Given the description of an element on the screen output the (x, y) to click on. 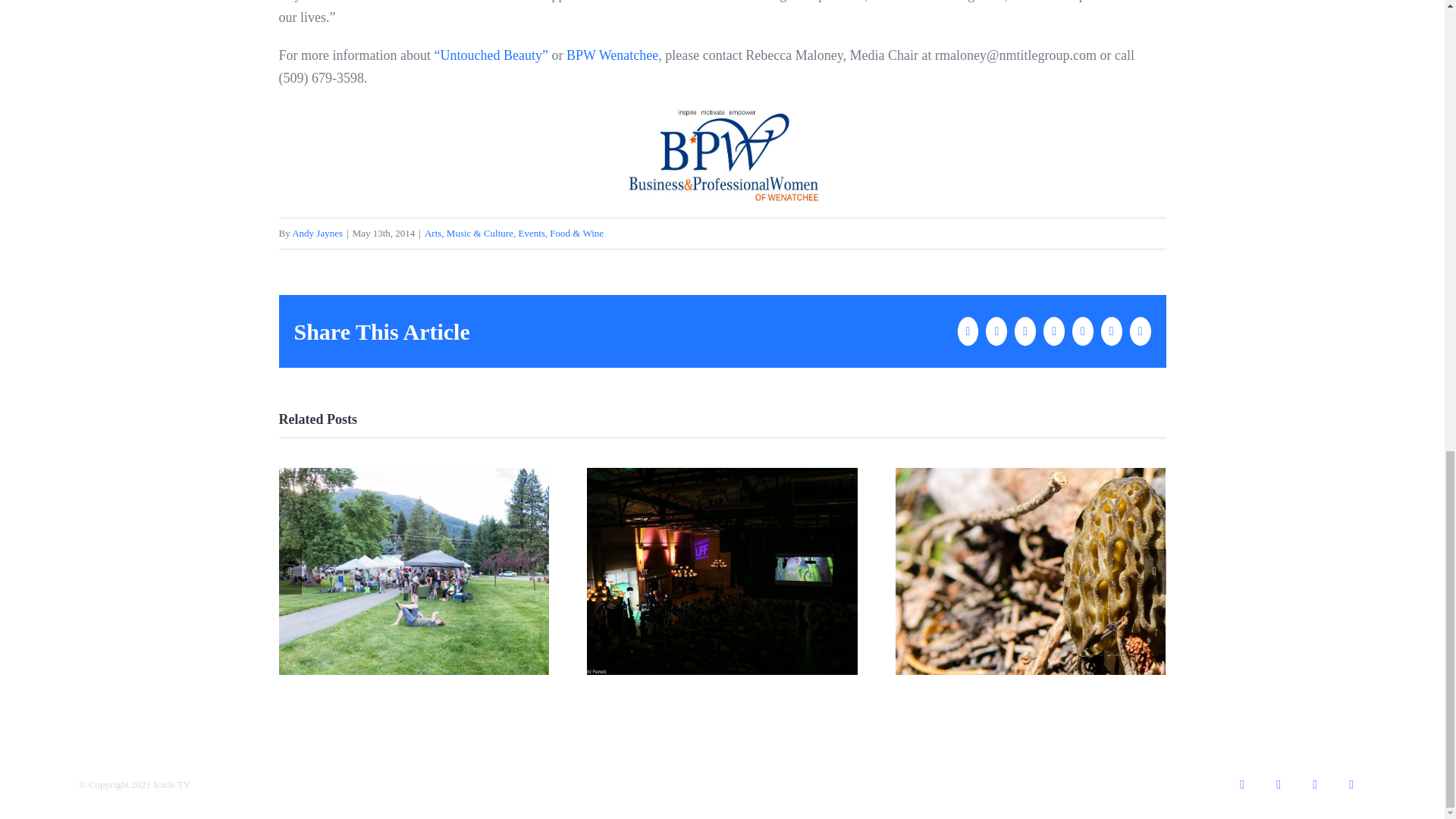
BPW Wenatchee (612, 55)
Andy Jaynes (317, 233)
Events (531, 233)
YouTube (1314, 784)
Instagram (1350, 784)
Facebook (1241, 784)
Posts by Andy Jaynes (317, 233)
Twitter (1277, 784)
Facebook (1241, 784)
